Given the description of an element on the screen output the (x, y) to click on. 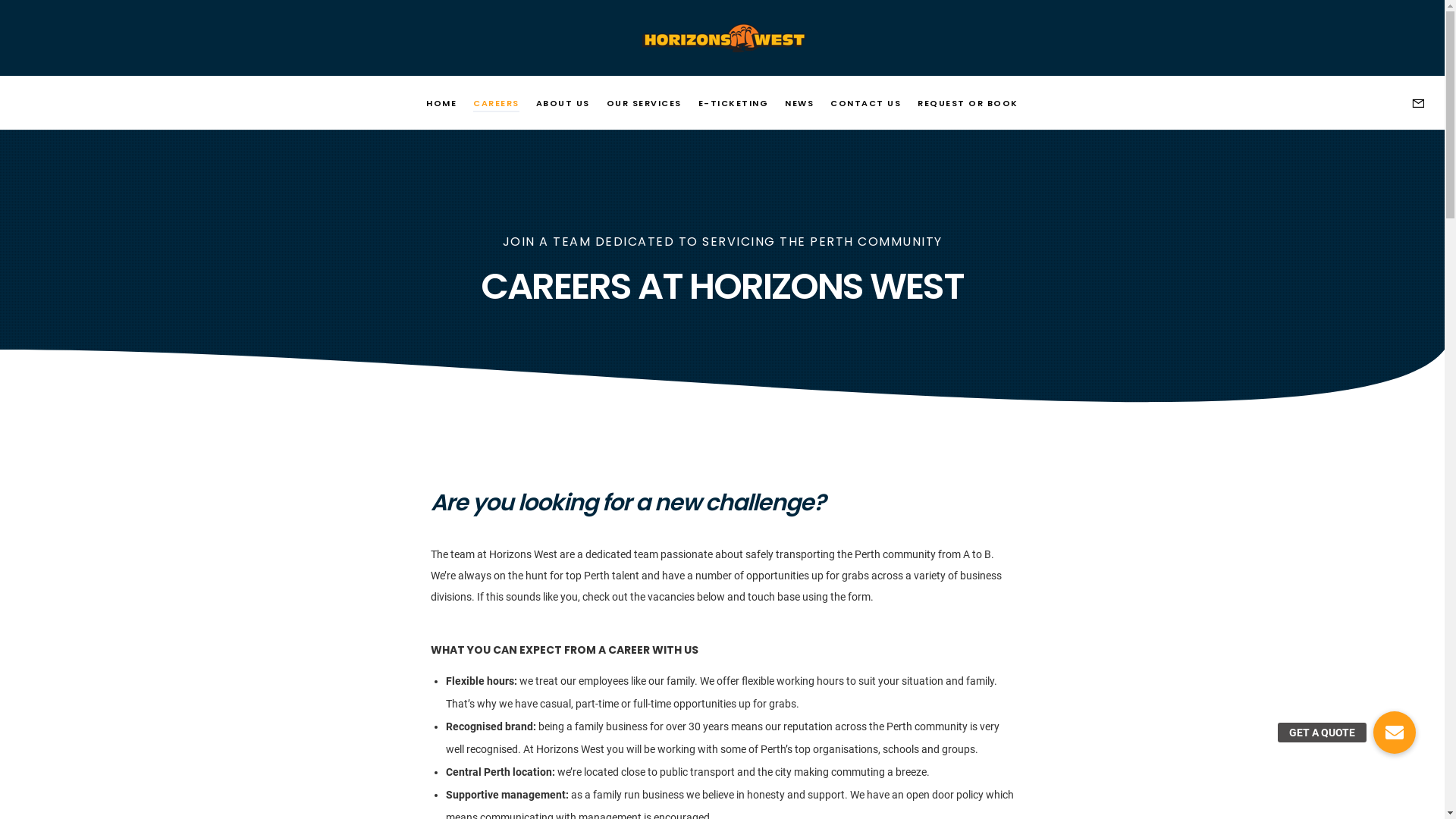
ABOUT US Element type: text (562, 102)
OUR SERVICES Element type: text (644, 102)
GET A QUOTE Element type: text (1394, 732)
CONTACT US Element type: text (865, 102)
REQUEST OR BOOK Element type: text (967, 102)
CAREERS Element type: text (495, 102)
HOME Element type: text (440, 102)
E-TICKETING Element type: text (733, 102)
NEWS Element type: text (799, 102)
